Given the description of an element on the screen output the (x, y) to click on. 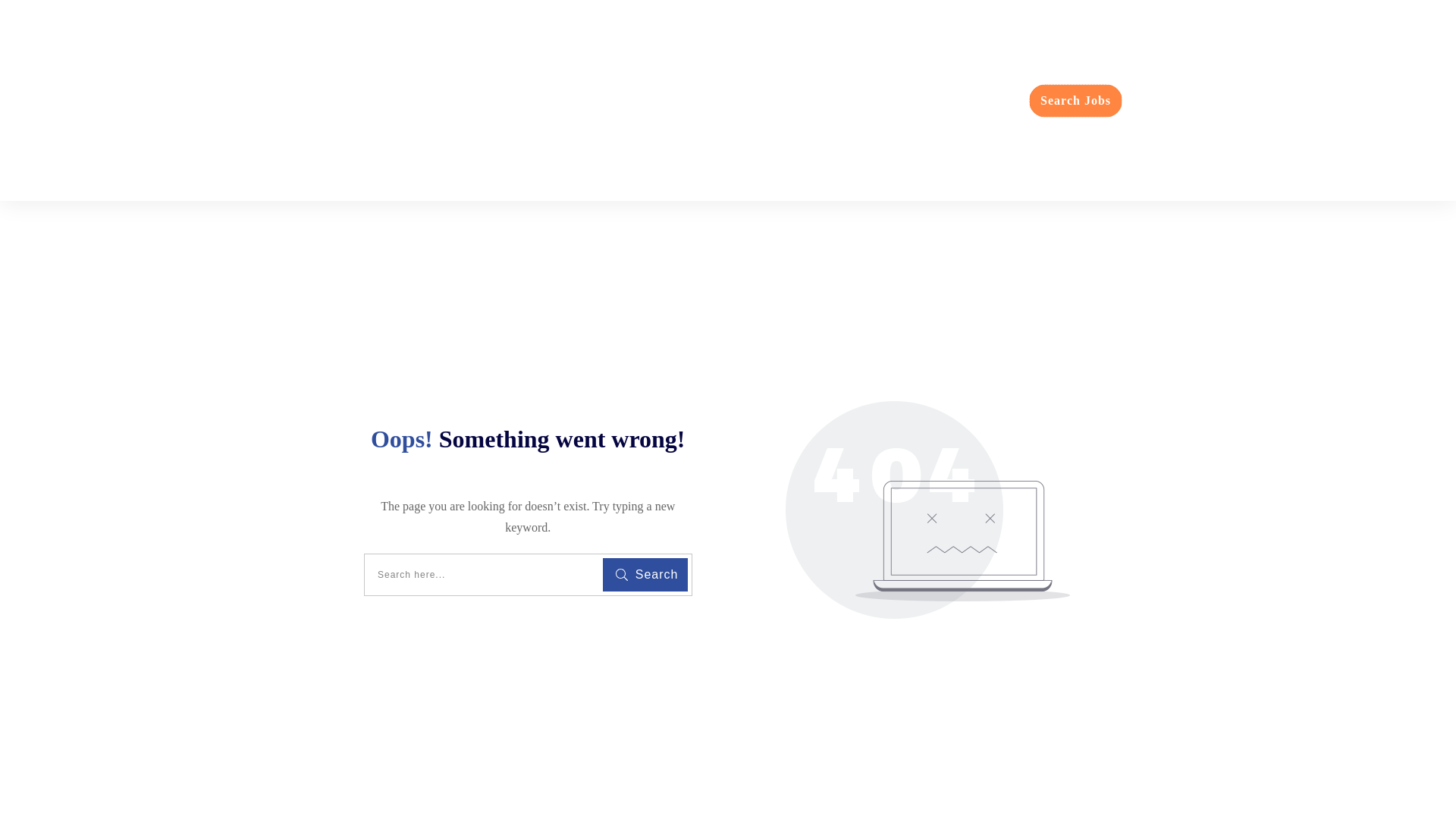
Search Jobs (1075, 99)
Search (644, 574)
404 (928, 510)
